Given the description of an element on the screen output the (x, y) to click on. 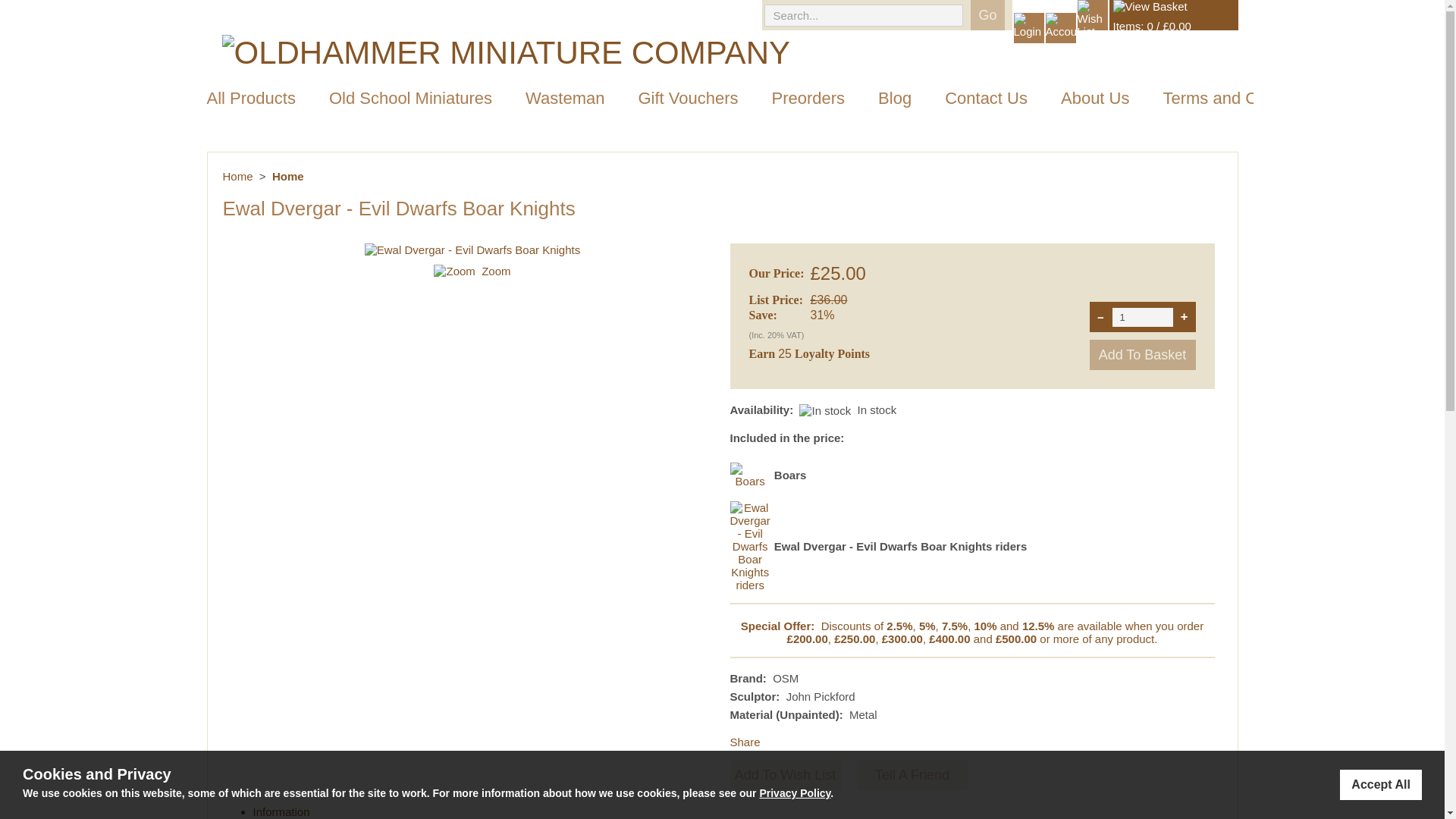
1 (1142, 316)
Information (281, 811)
Share (744, 741)
Zoom (749, 474)
Ewal Dvergar - Evil Dwarfs Boar Knights (472, 249)
Zoom (496, 270)
Boars (749, 481)
Ewal Dvergar - Evil Dwarfs Boar Knights riders (749, 584)
In stock (824, 410)
Ewal Dvergar - Evil Dwarfs Boar Knights (496, 270)
Home (288, 175)
Ewal Dvergar - Evil Dwarfs Boar Knights (453, 270)
Tell A Friend (912, 775)
Home (237, 175)
Add To Wish List (784, 775)
